Given the description of an element on the screen output the (x, y) to click on. 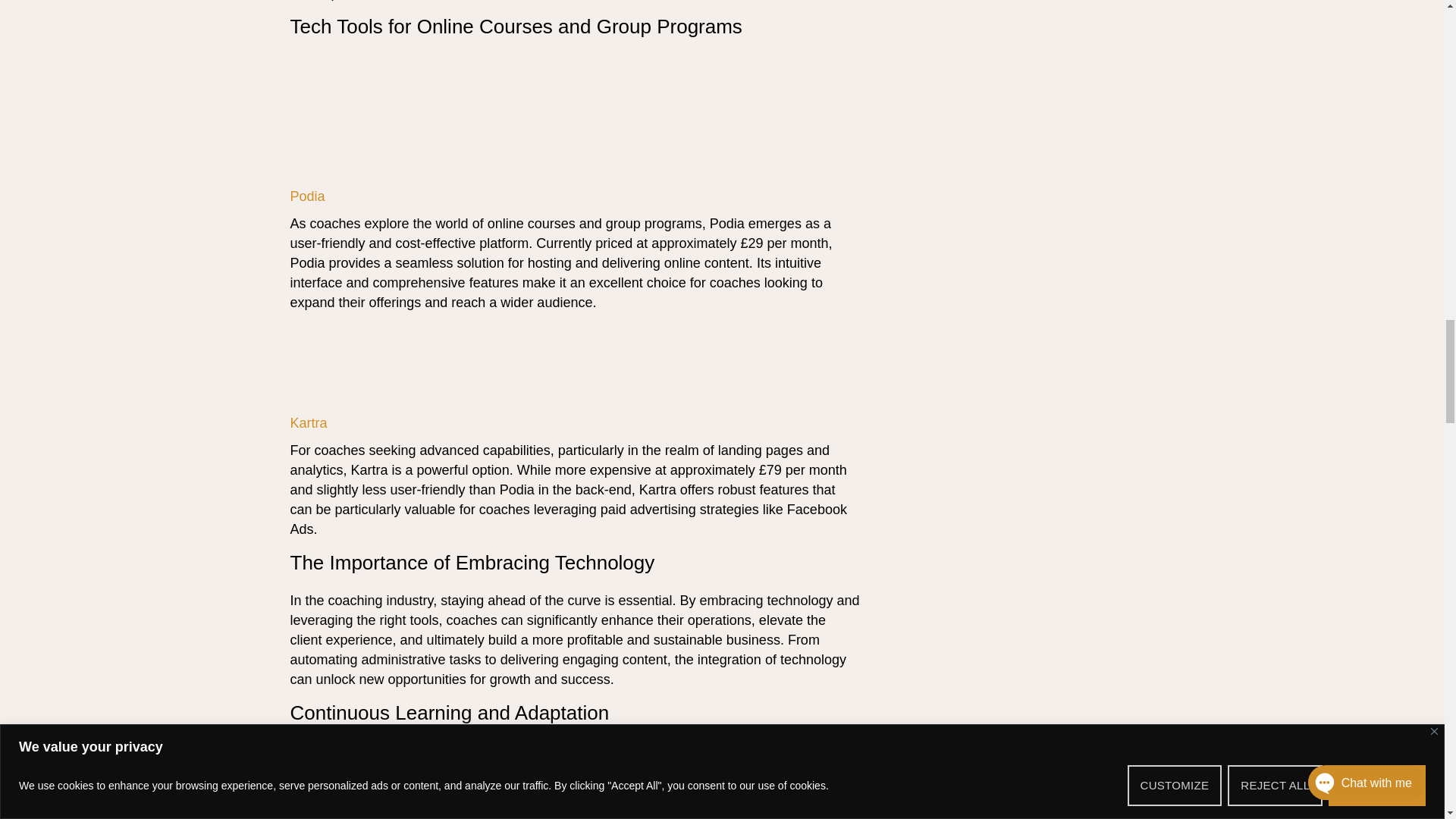
Podia  (309, 196)
Kartra  (309, 422)
